Given the description of an element on the screen output the (x, y) to click on. 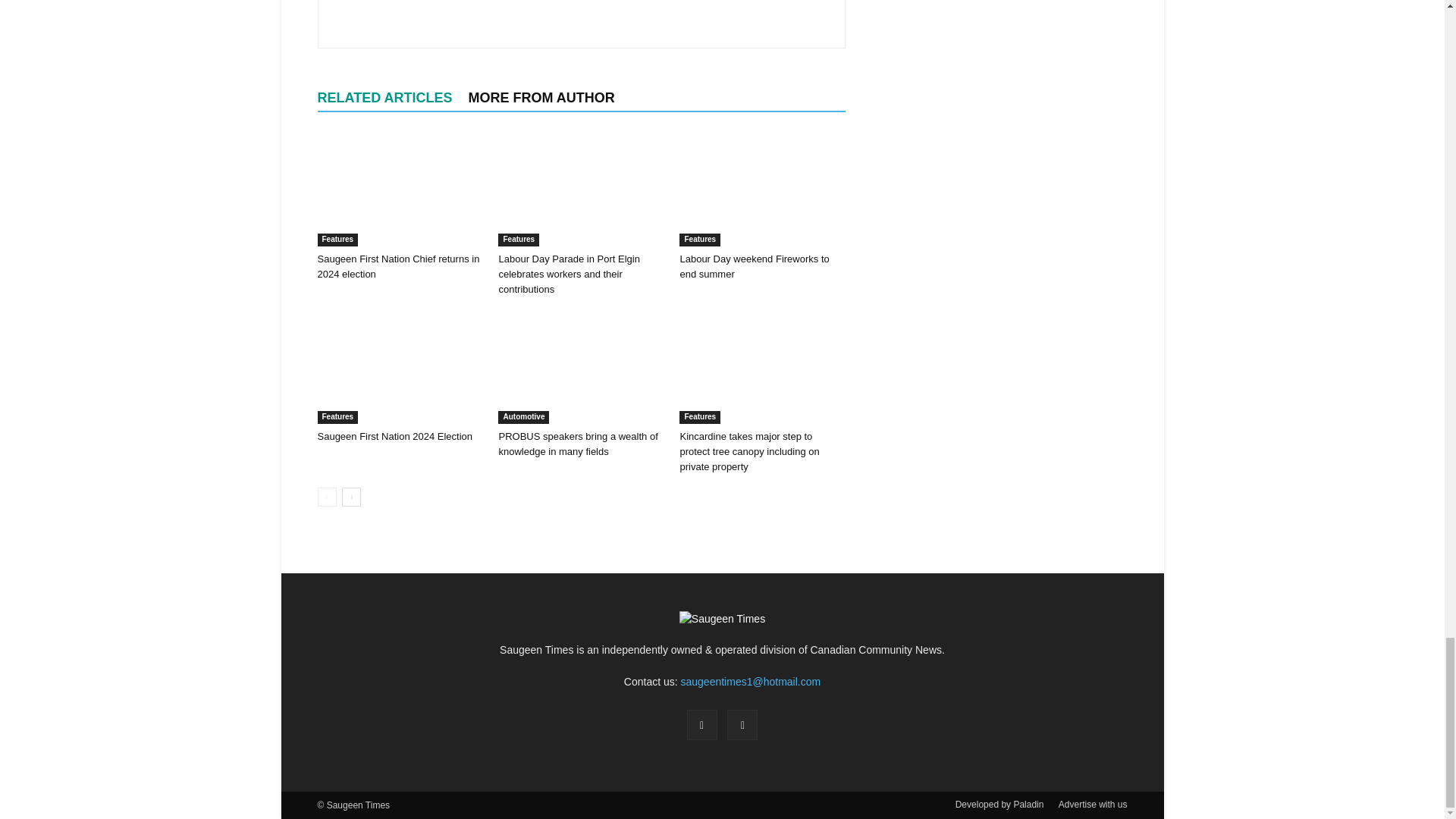
Saugeen First Nation Chief returns in 2024 election (399, 189)
Saugeen First Nation Chief returns in 2024 election (398, 266)
